Given the description of an element on the screen output the (x, y) to click on. 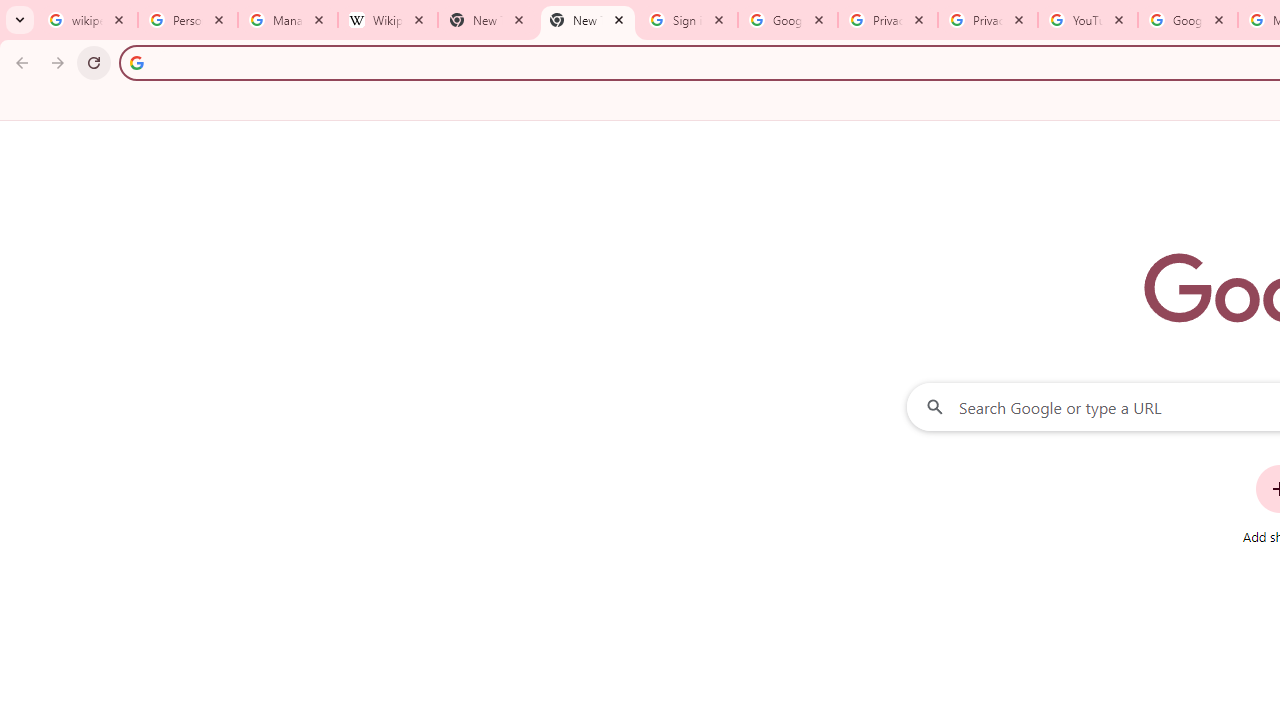
Manage your Location History - Google Search Help (287, 20)
Personalization & Google Search results - Google Search Help (188, 20)
Google Account Help (1187, 20)
